Given the description of an element on the screen output the (x, y) to click on. 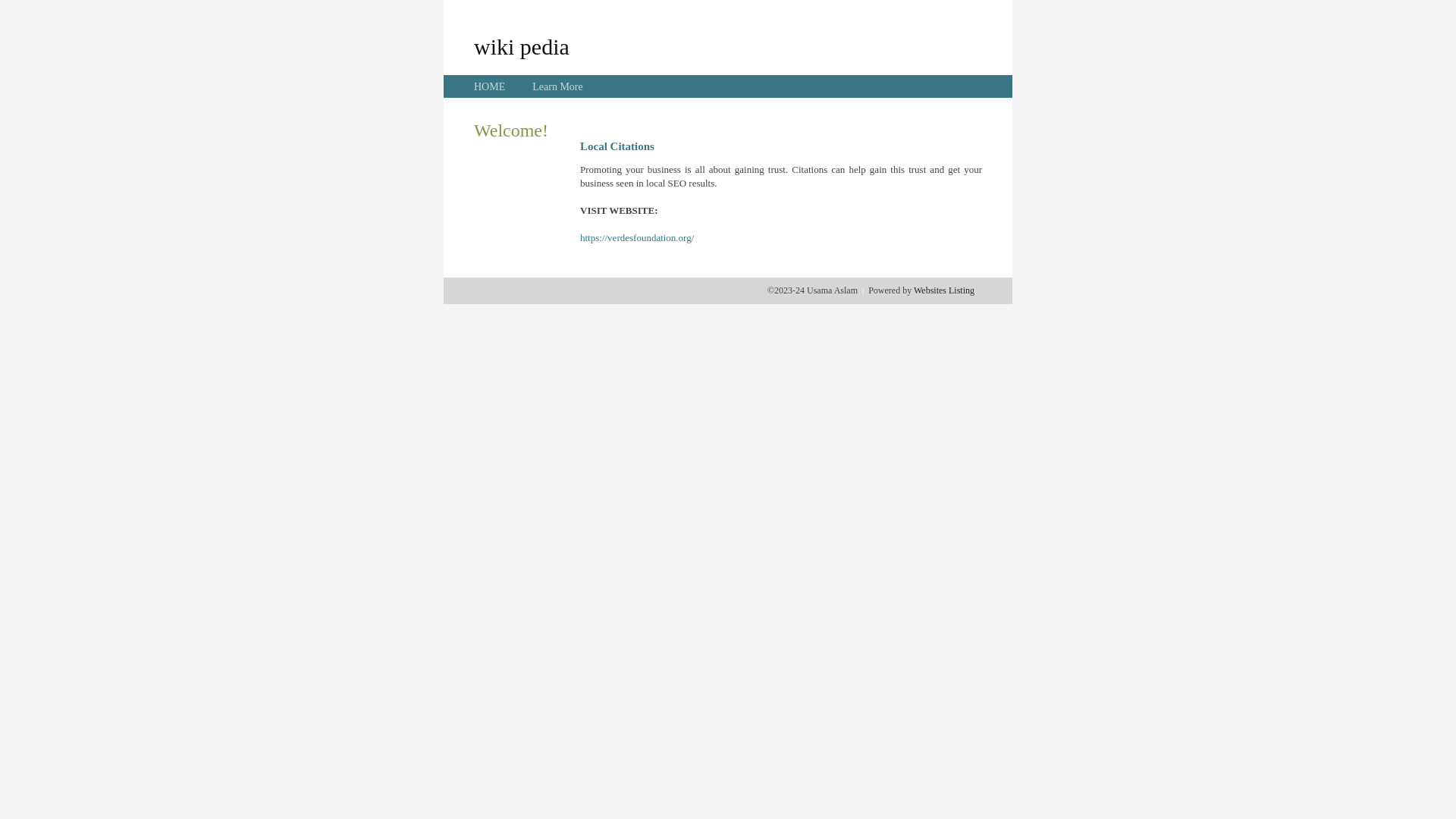
Learn More Element type: text (557, 86)
Websites Listing Element type: text (943, 290)
HOME Element type: text (489, 86)
https://verdesfoundation.org/ Element type: text (636, 237)
wiki pedia Element type: text (521, 46)
